Given the description of an element on the screen output the (x, y) to click on. 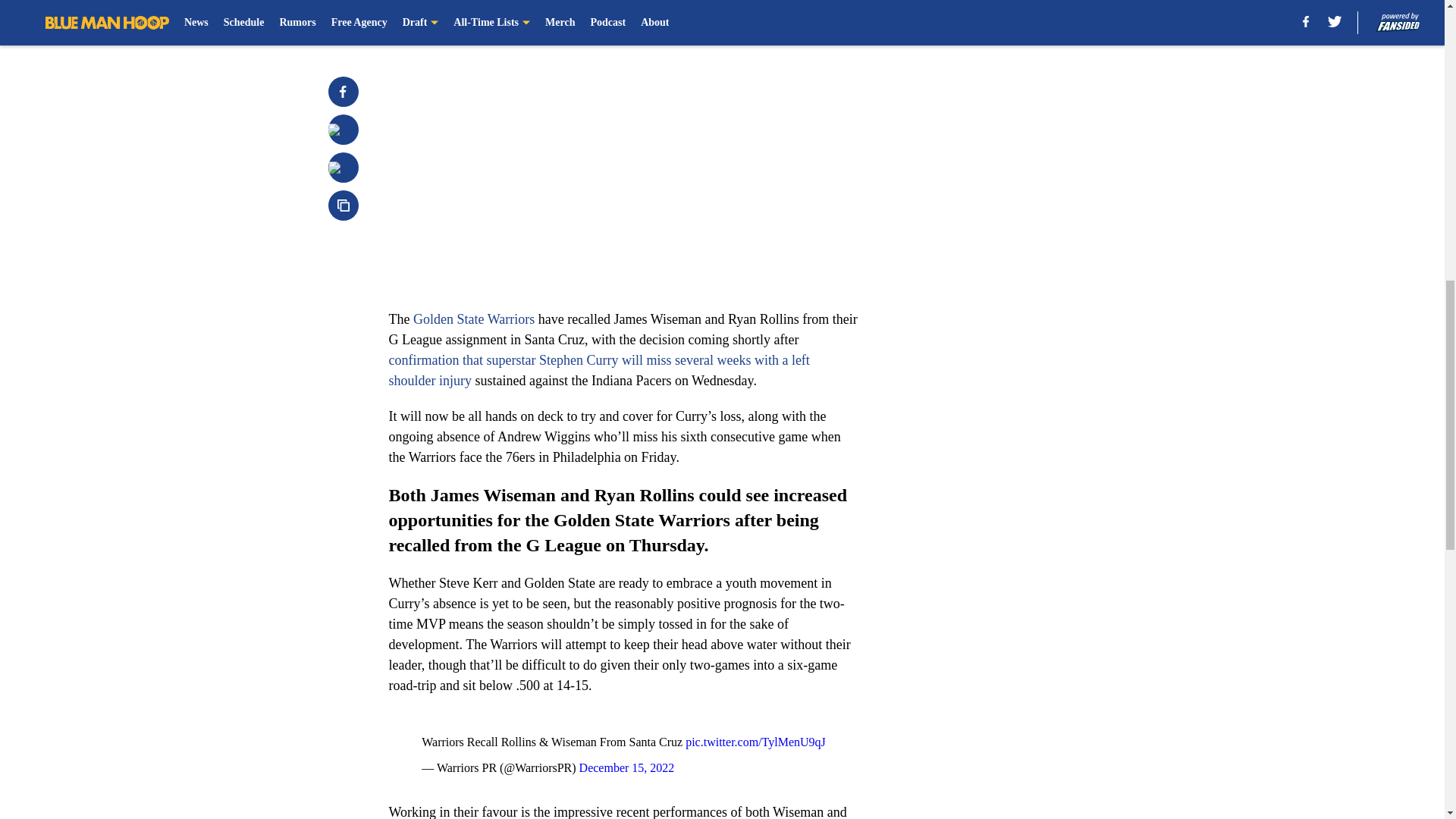
December 15, 2022 (627, 767)
Golden State Warriors (473, 319)
